Given the description of an element on the screen output the (x, y) to click on. 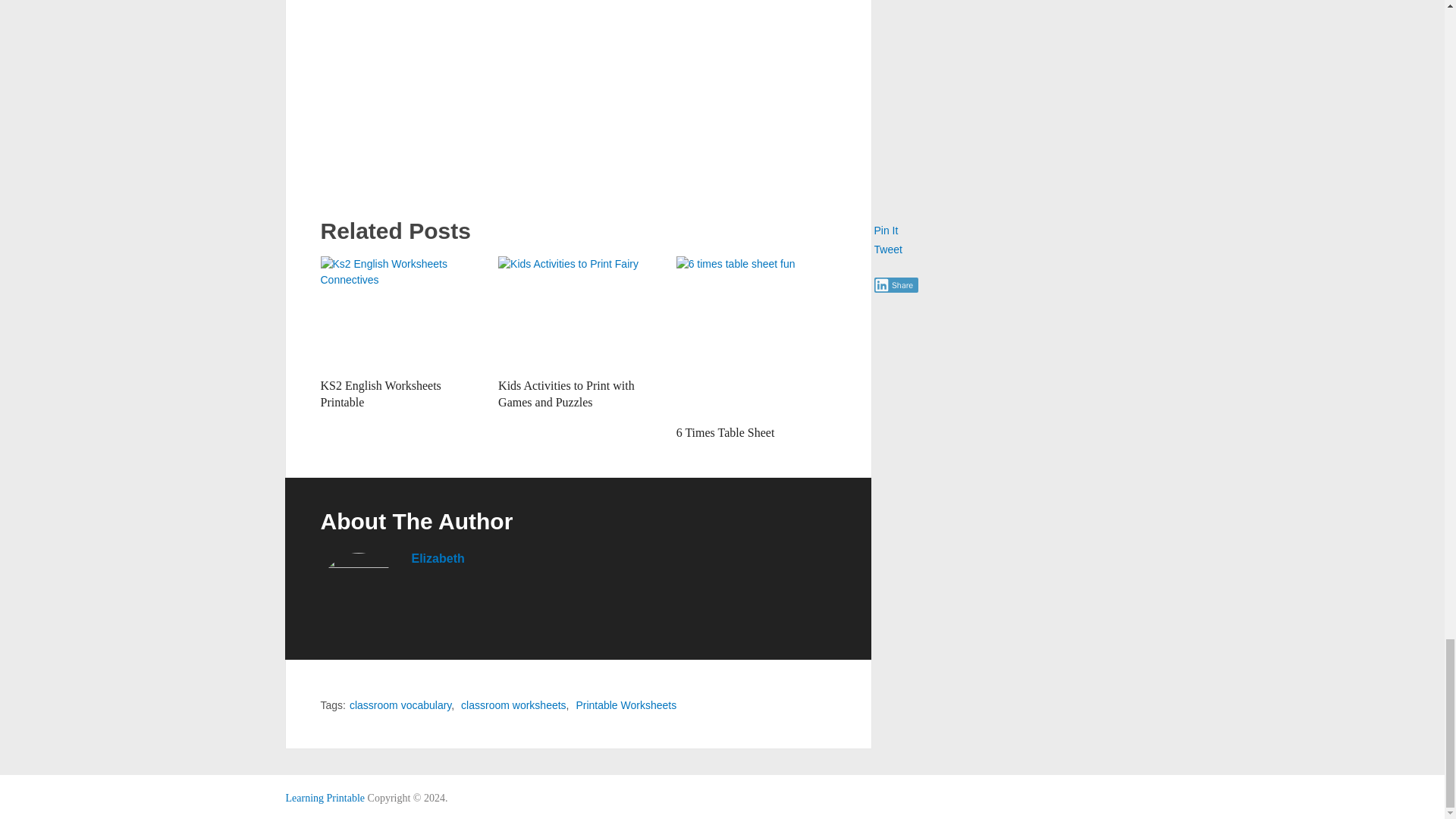
Kids Activities to Print with Games and Puzzles (565, 393)
KS2 English Worksheets Printable (400, 313)
KS2 English Worksheets Printable (380, 393)
6 Times Table Sheet (756, 336)
6 Times Table Sheet (725, 431)
Kids Activities to Print with Games and Puzzles (577, 313)
